Given the description of an element on the screen output the (x, y) to click on. 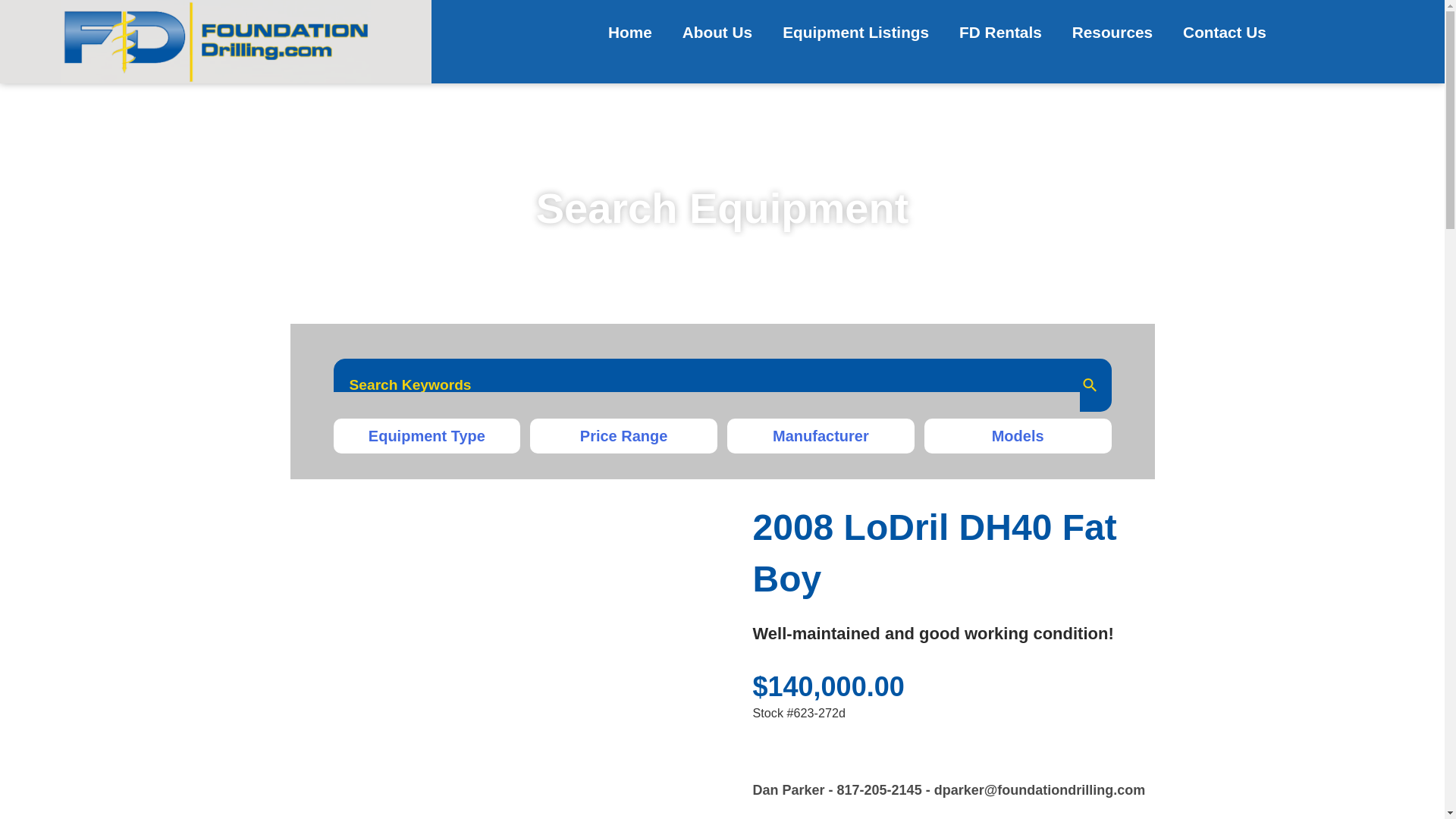
Equipment Listings (855, 32)
Price Range (623, 435)
Contact Us (1224, 32)
Home (629, 32)
FD Rentals (1000, 32)
Equipment Type (427, 435)
About Us (716, 32)
Resources (1112, 32)
Manufacturer (820, 435)
